Given the description of an element on the screen output the (x, y) to click on. 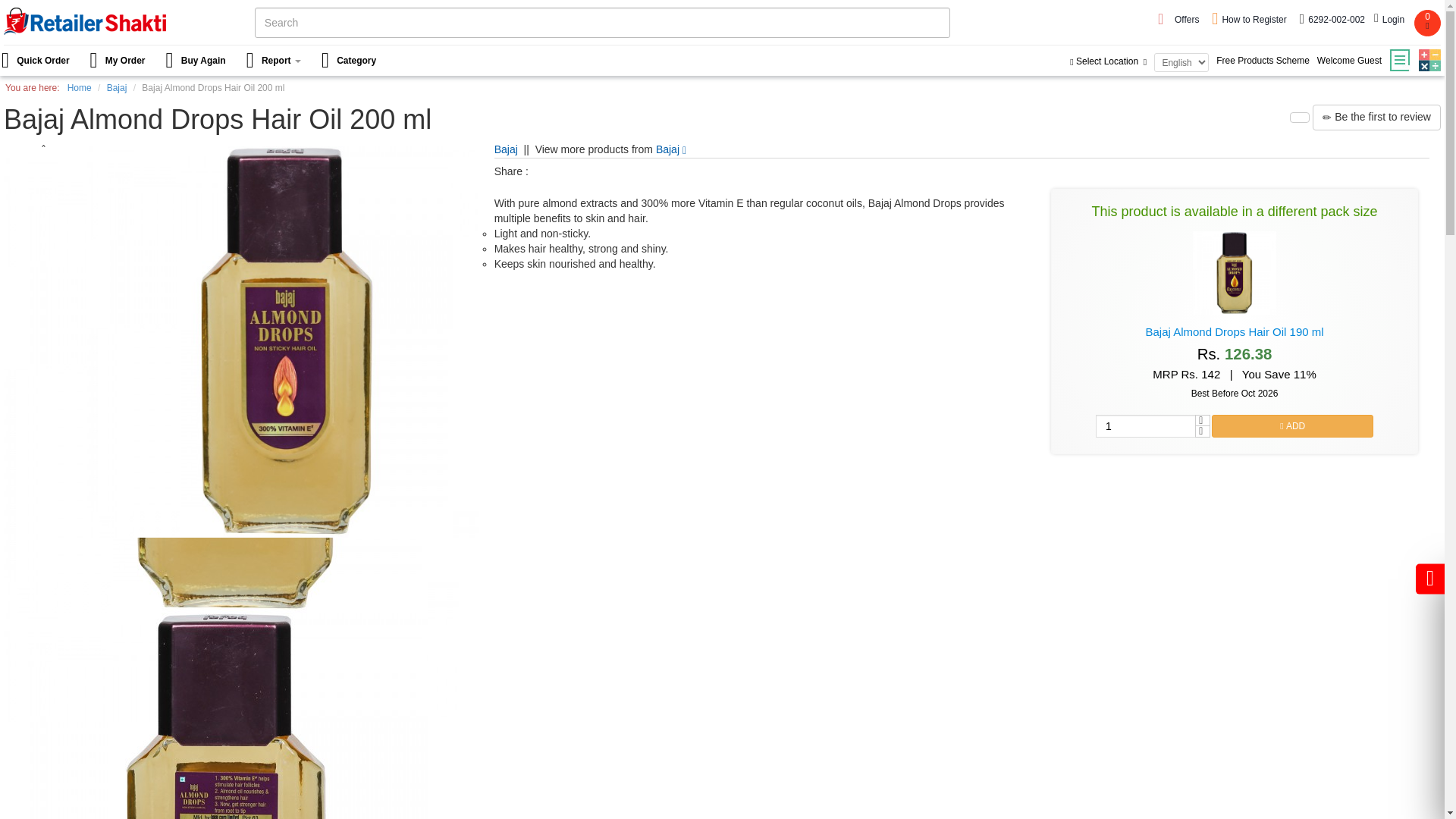
Report (275, 60)
6292-002-002 (1332, 19)
1 (1145, 425)
Quick Order (40, 60)
Welcome Guest (1349, 60)
Bajaj (670, 149)
Bajaj (506, 149)
Free Products Scheme (1262, 60)
 Select Location   (1109, 60)
Category (350, 60)
